Given the description of an element on the screen output the (x, y) to click on. 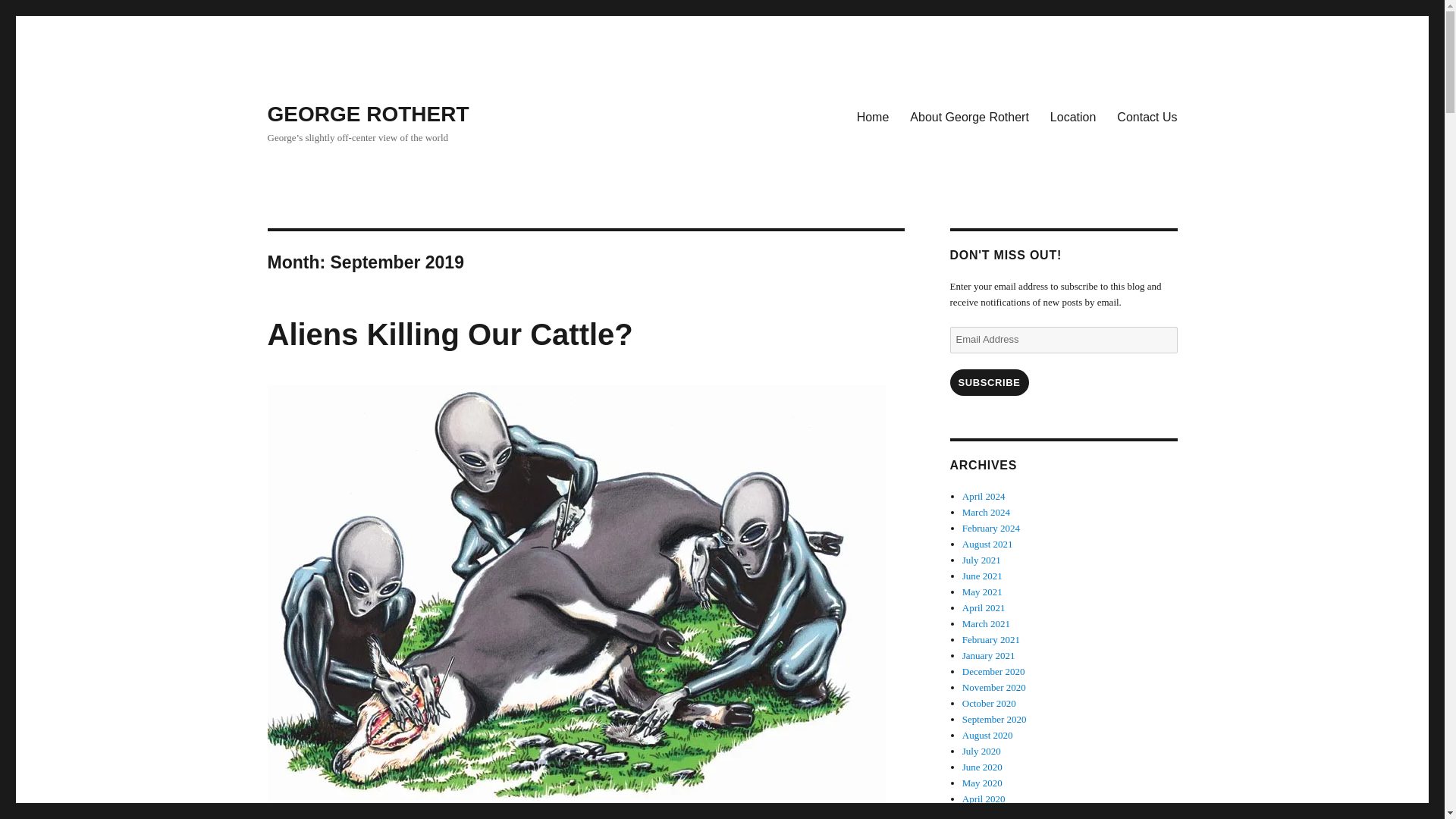
Contact Us (1147, 116)
Aliens Killing Our Cattle? (448, 334)
Home (872, 116)
Location (1072, 116)
GEORGE ROTHERT (367, 114)
About George Rothert (969, 116)
